Given the description of an element on the screen output the (x, y) to click on. 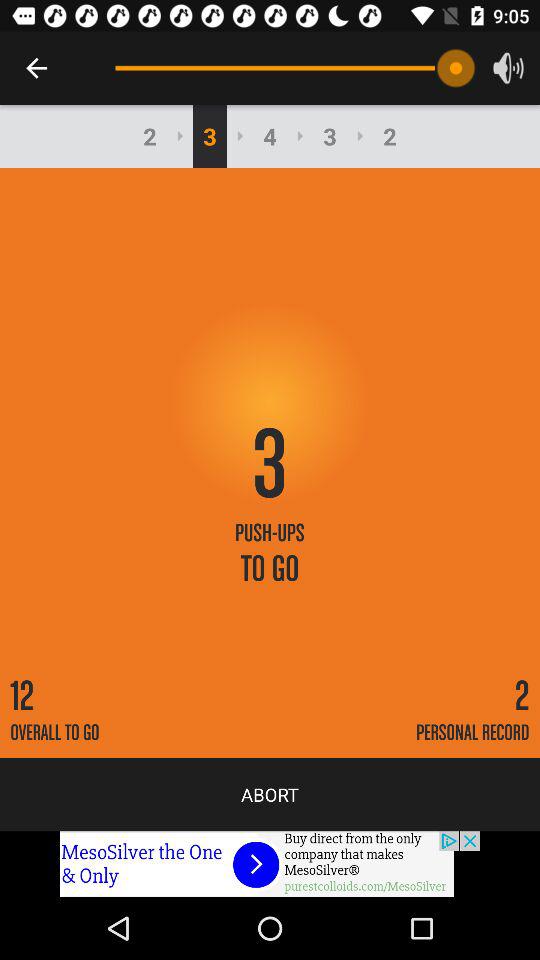
select mesosilver advertisement (270, 864)
